Given the description of an element on the screen output the (x, y) to click on. 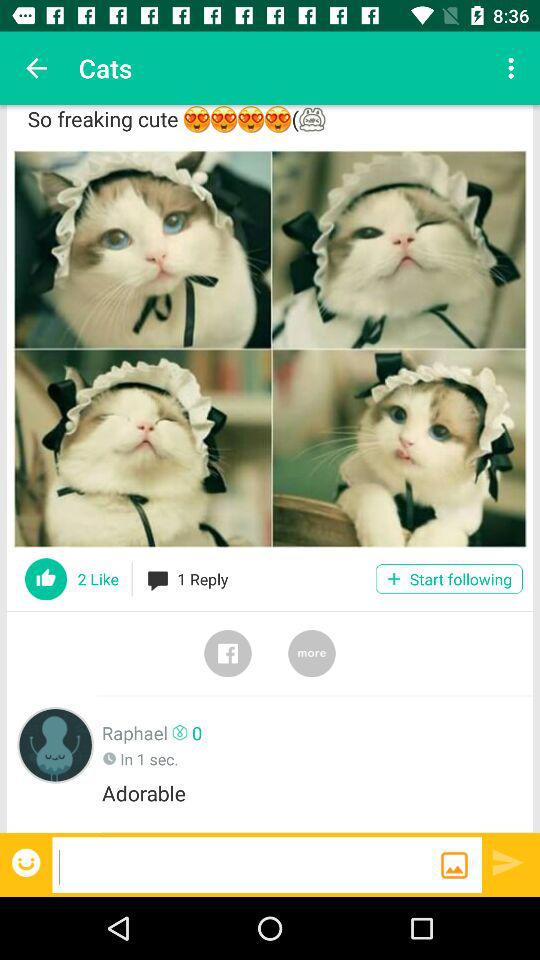
turn off item next to the cats app (36, 68)
